Given the description of an element on the screen output the (x, y) to click on. 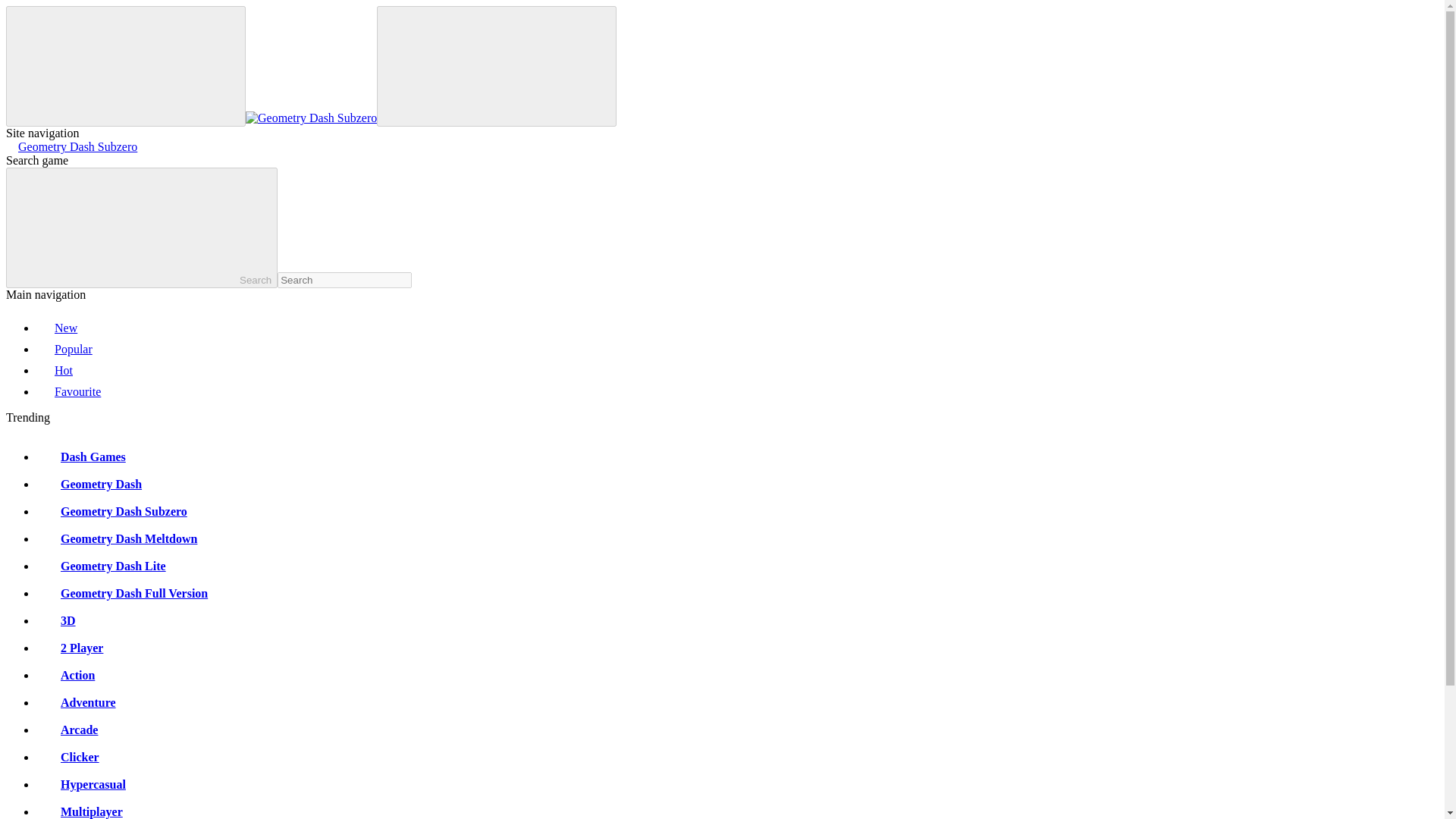
Popular (64, 349)
Multiplayer (79, 811)
Action (65, 675)
Dash Games (80, 456)
Geometry Dash Lite (100, 565)
Dash Games (80, 456)
Adventure (76, 702)
Arcade (66, 729)
3D (55, 620)
New (56, 327)
Clicker (67, 757)
Hot (54, 369)
Adventure (76, 702)
2 Player (69, 647)
Search (141, 227)
